Given the description of an element on the screen output the (x, y) to click on. 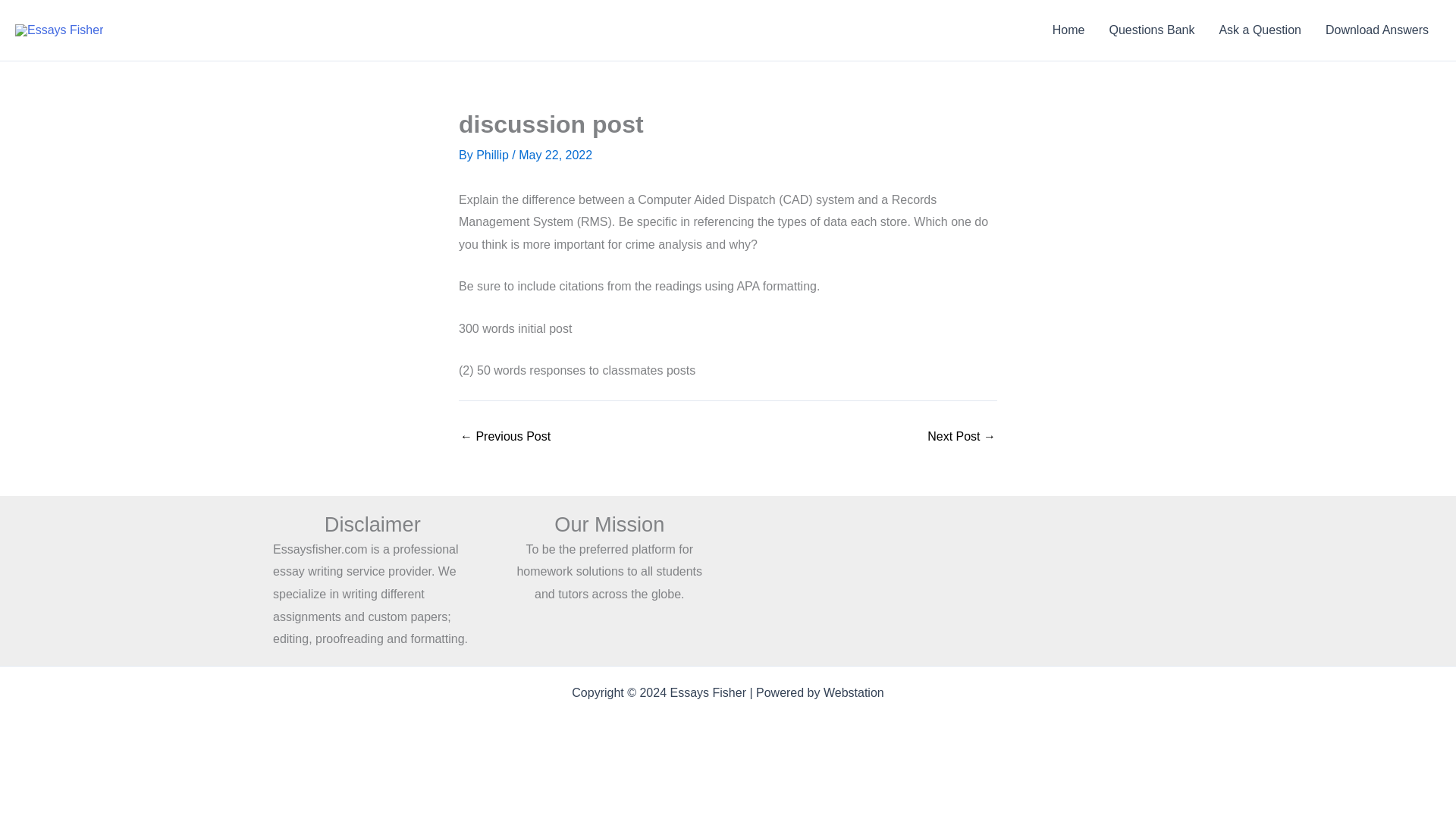
Questions Bank (1151, 30)
Research assn. apa basics, what is human development (961, 436)
Download Answers (1377, 30)
Ask a Question (1260, 30)
Ecosystem of Memory Draft (505, 436)
View all posts by Phillip (494, 154)
Phillip (494, 154)
Home (1069, 30)
